Given the description of an element on the screen output the (x, y) to click on. 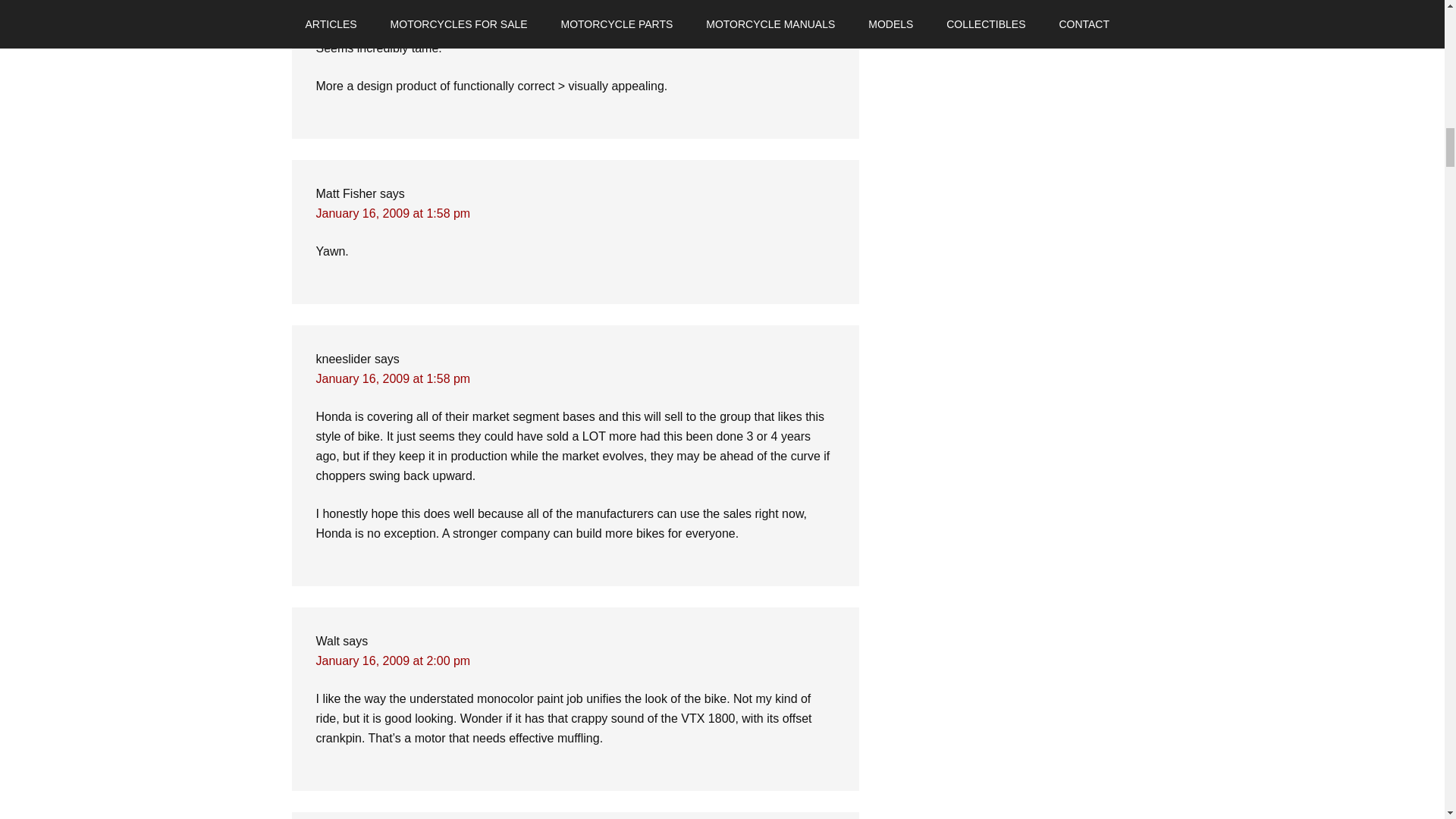
January 16, 2009 at 1:58 pm (392, 213)
January 16, 2009 at 1:58 pm (392, 378)
January 16, 2009 at 2:00 pm (392, 660)
